Given the description of an element on the screen output the (x, y) to click on. 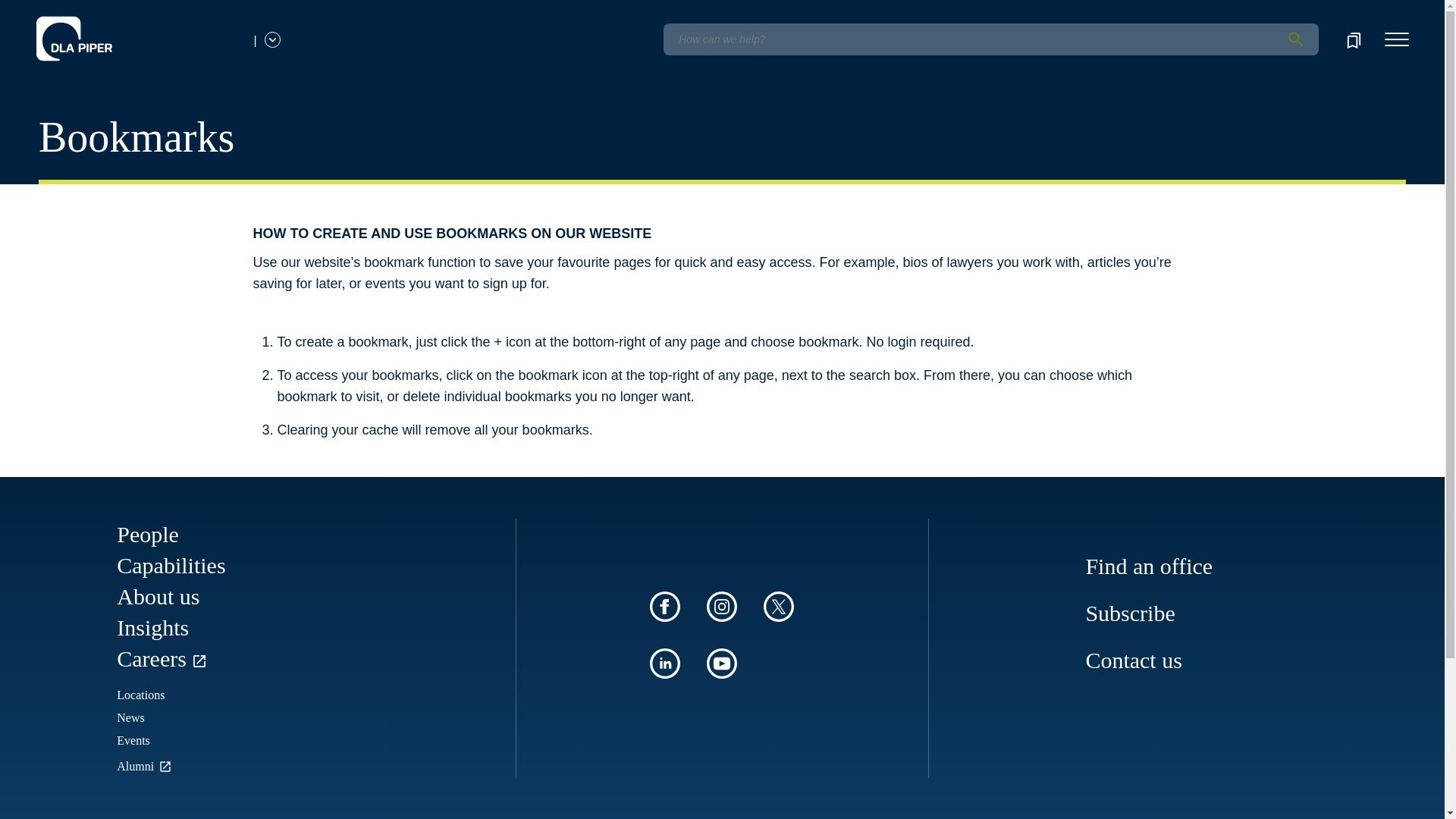
News (130, 717)
Capabilities (170, 565)
Events (132, 739)
Contact us (1133, 659)
Insert a query. Press enter to send (990, 39)
Find an office (1148, 565)
Alumni (146, 766)
People (147, 534)
Locations (140, 694)
Subscribe (1129, 612)
Insights (152, 627)
Careers (162, 658)
About us (157, 596)
